Given the description of an element on the screen output the (x, y) to click on. 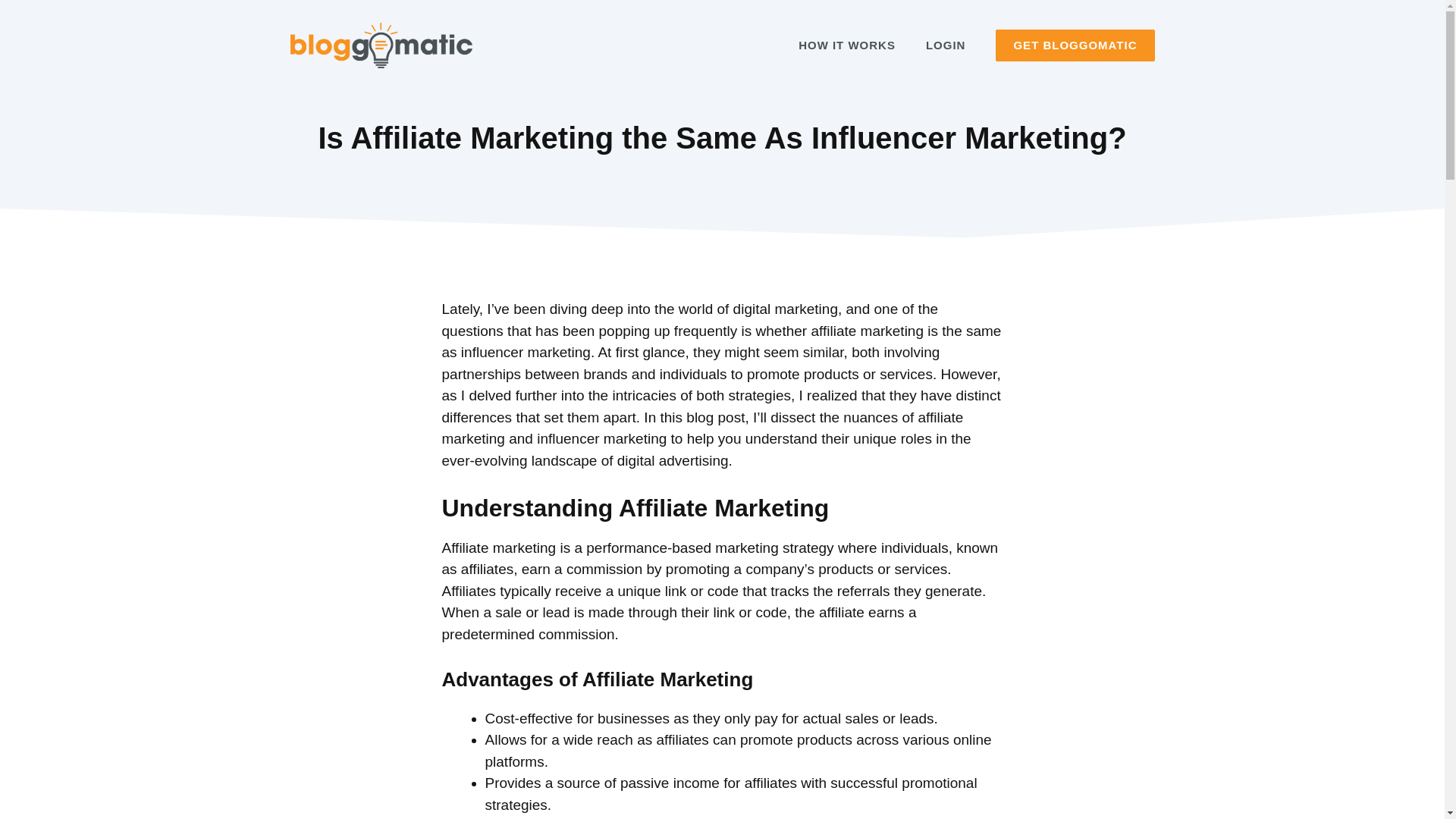
LOGIN (946, 44)
GET BLOGGOMATIC (1074, 45)
HOW IT WORKS (847, 44)
